Given the description of an element on the screen output the (x, y) to click on. 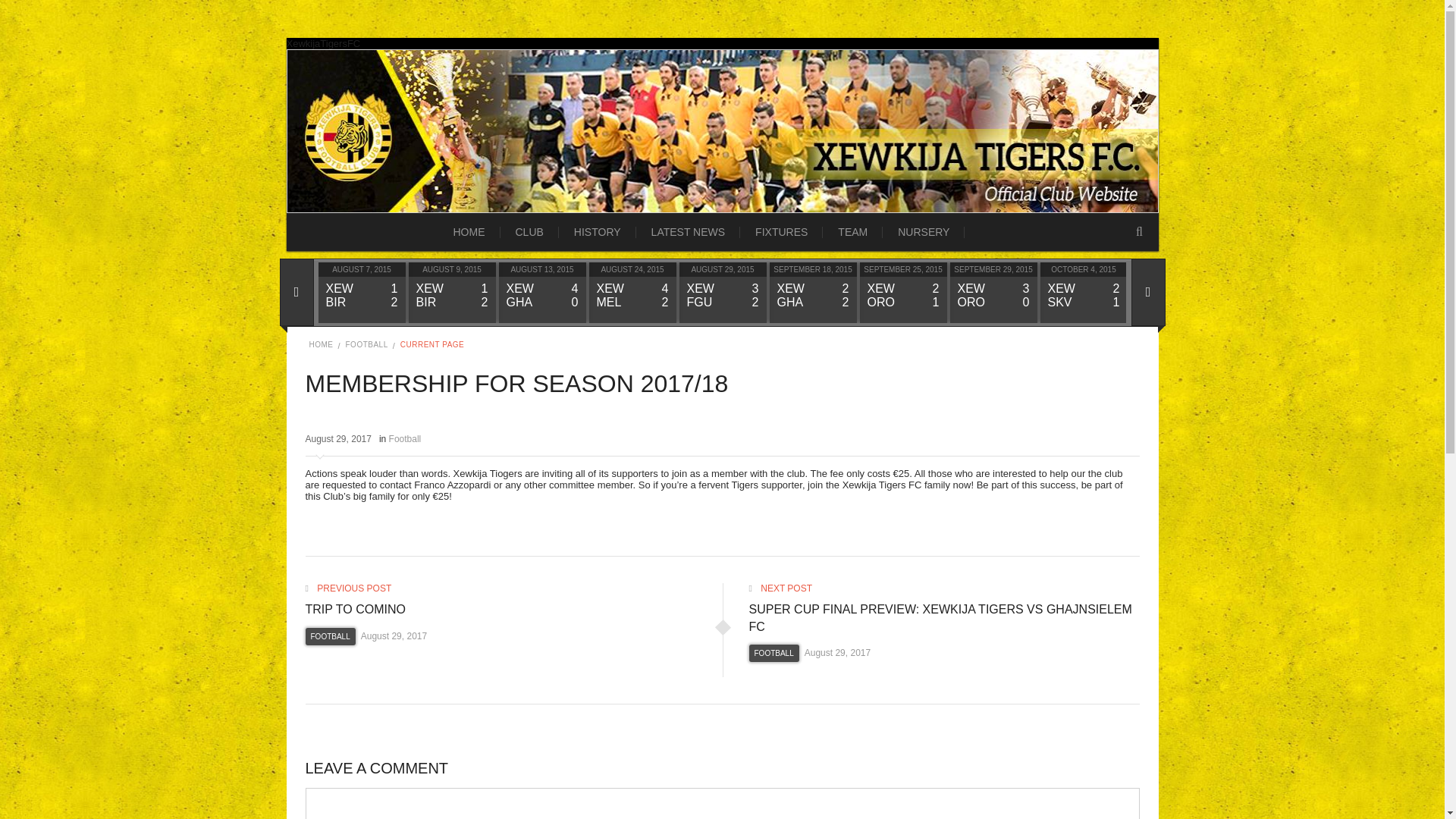
TEAM (852, 231)
HISTORY (597, 231)
CLUB (529, 231)
XewkijaTigersFC (323, 43)
FIXTURES (780, 231)
NURSERY (922, 231)
LATEST NEWS (688, 231)
HOME (469, 231)
